Given the description of an element on the screen output the (x, y) to click on. 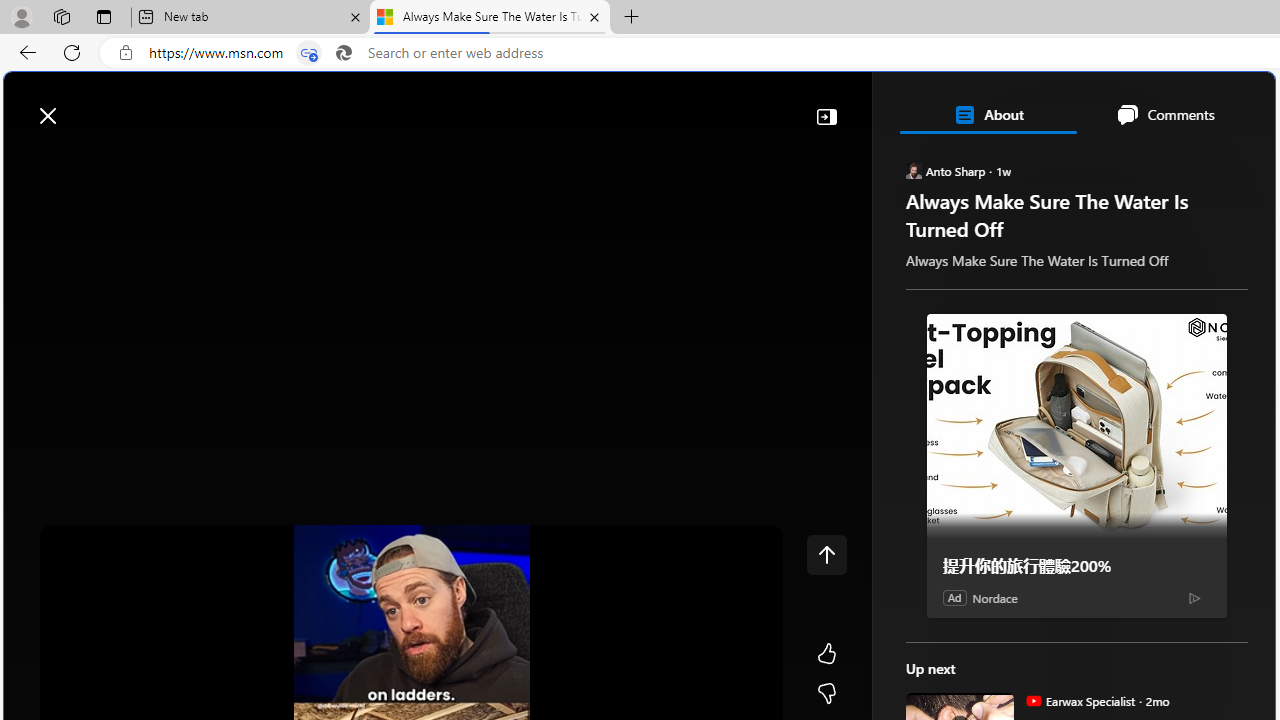
Tab actions menu (104, 16)
Always Make Sure The Water Is Turned Off (490, 17)
Following (172, 162)
Watch (257, 162)
Following (173, 162)
Skip to content (86, 105)
Enter your search term (644, 106)
Watch (249, 162)
Ad Choice (1193, 597)
Earwax Specialist (1033, 700)
View site information (125, 53)
Microsoft rewards (1151, 105)
Open Copilot (995, 105)
